Given the description of an element on the screen output the (x, y) to click on. 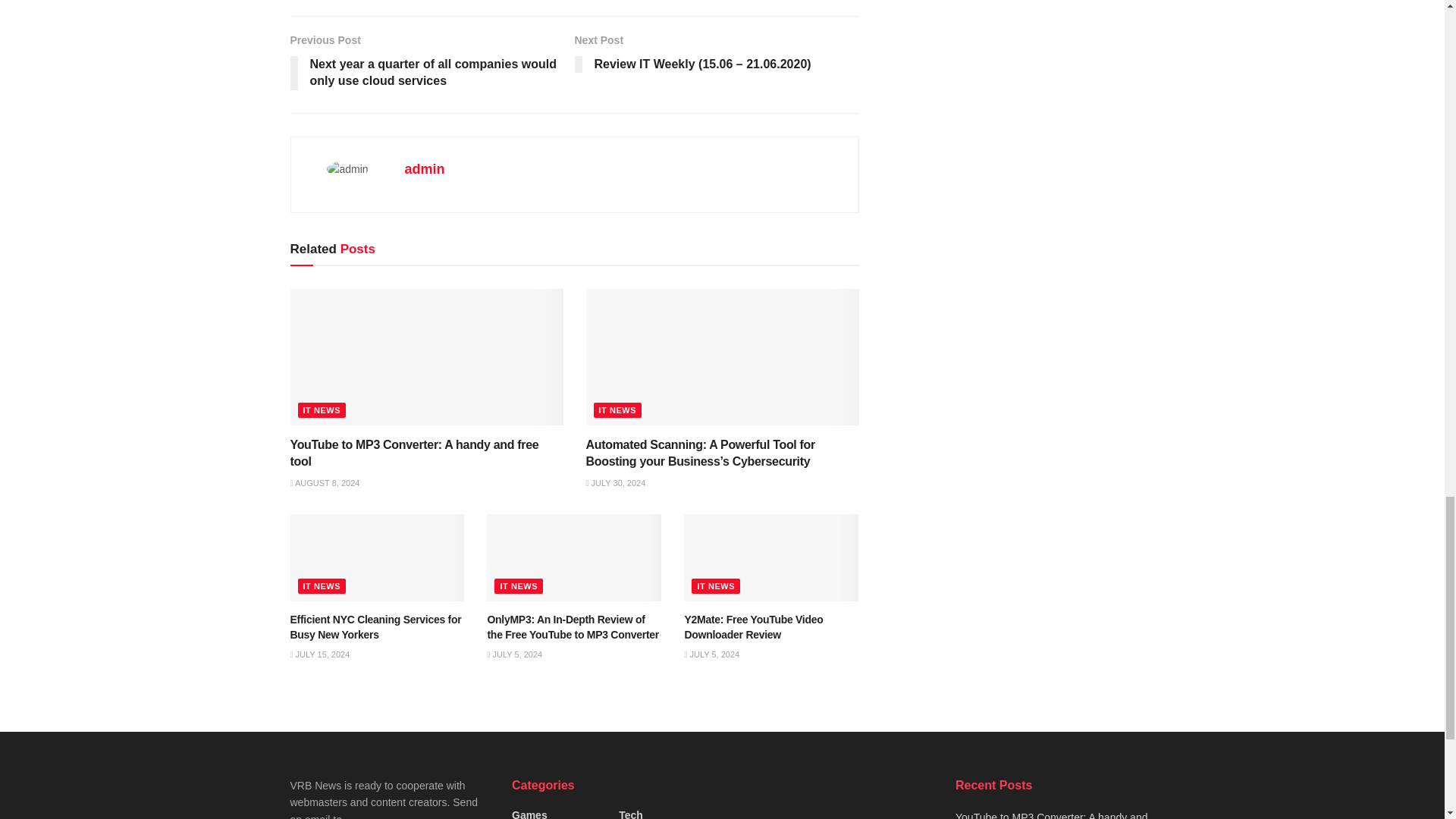
admin (424, 168)
IT NEWS (321, 409)
AUGUST 8, 2024 (324, 482)
YouTube to MP3 Converter: A handy and free tool (413, 452)
JULY 30, 2024 (615, 482)
IT NEWS (617, 409)
